Given the description of an element on the screen output the (x, y) to click on. 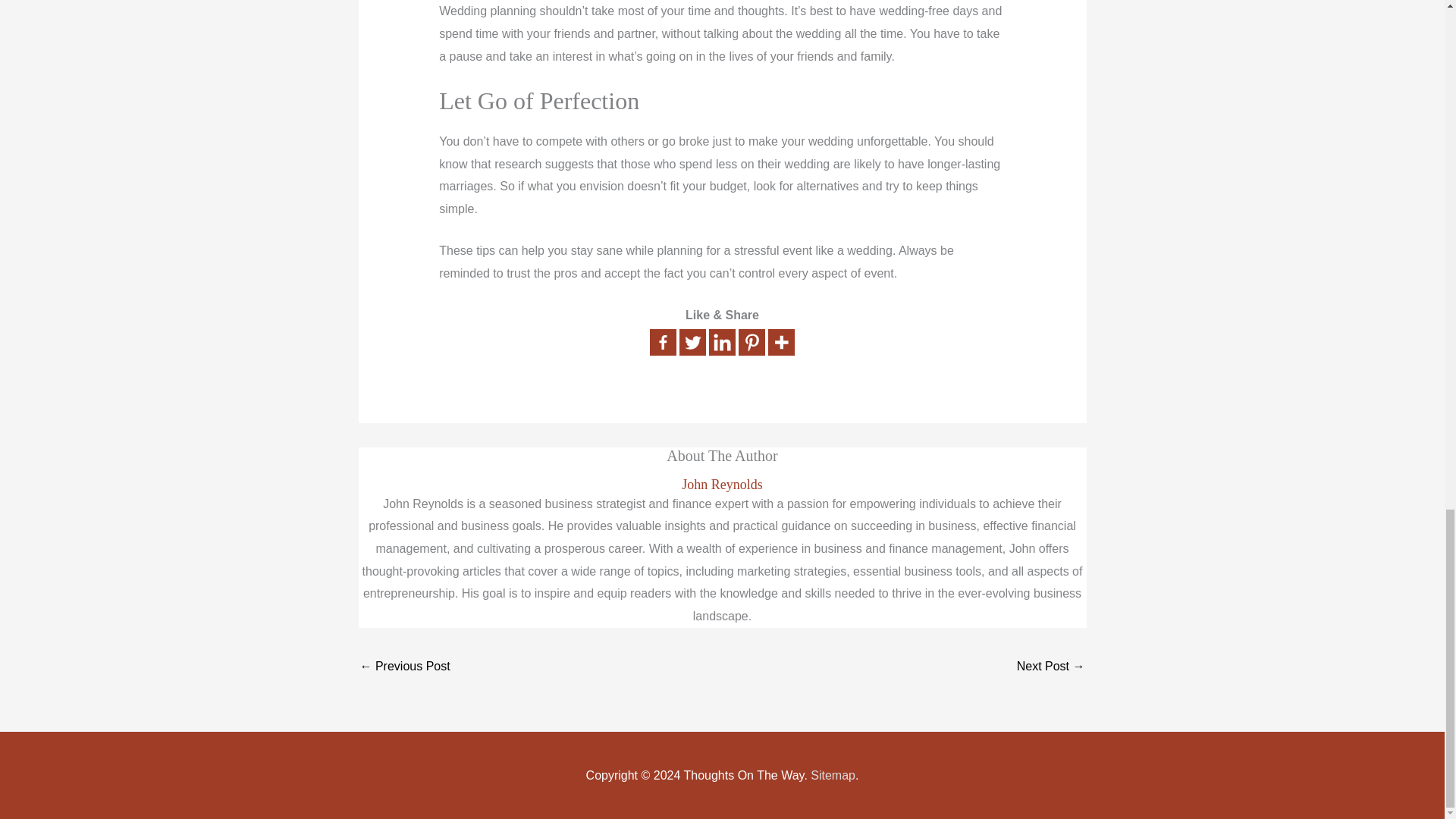
John Reynolds (722, 484)
Pinterest (751, 342)
More (781, 342)
Linkedin (722, 342)
Sitemap (833, 775)
Facebook (663, 342)
Twitter (692, 342)
